Given the description of an element on the screen output the (x, y) to click on. 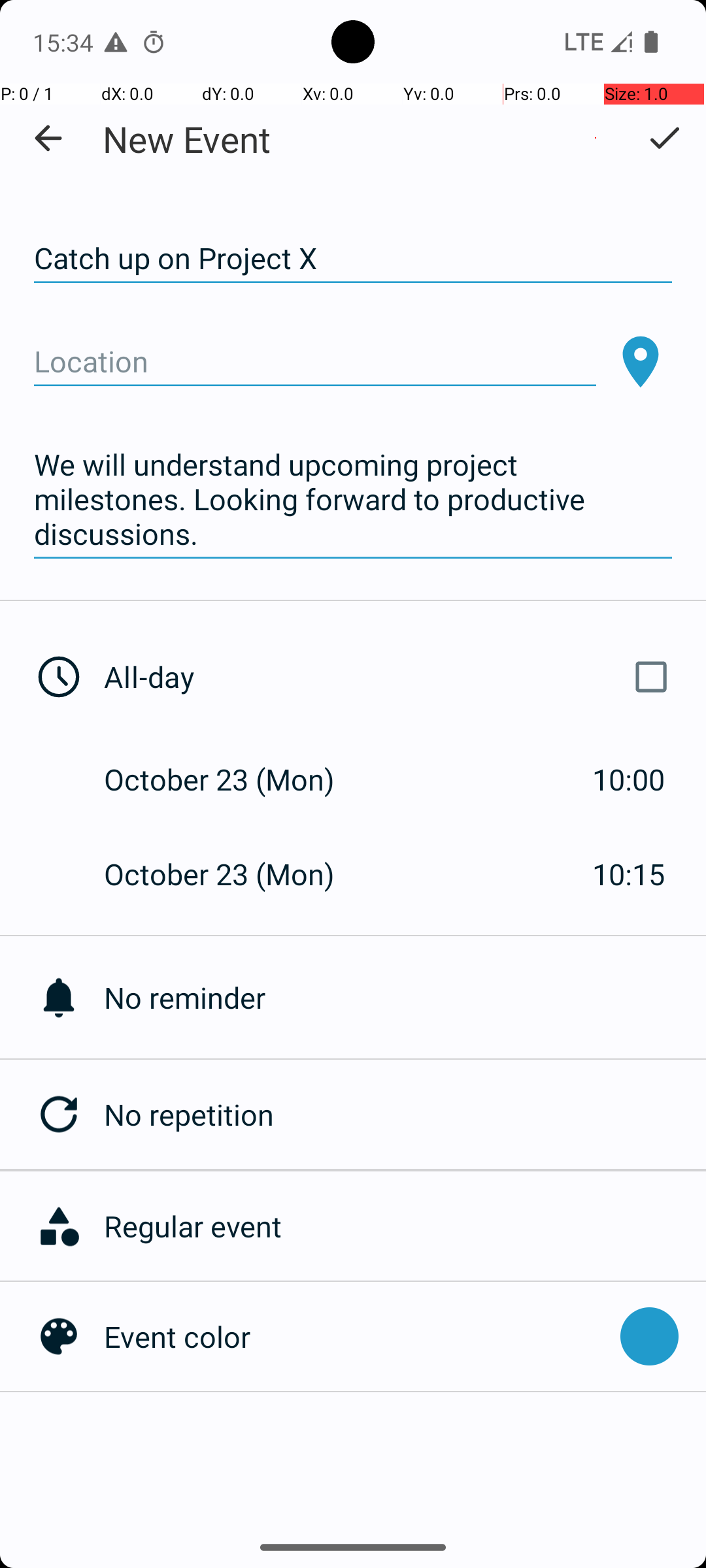
Catch up on Project X Element type: android.widget.EditText (352, 258)
We will understand upcoming project milestones. Looking forward to productive discussions. Element type: android.widget.EditText (352, 499)
October 23 (Mon) Element type: android.widget.TextView (232, 778)
10:00 Element type: android.widget.TextView (628, 778)
10:15 Element type: android.widget.TextView (628, 873)
